Given the description of an element on the screen output the (x, y) to click on. 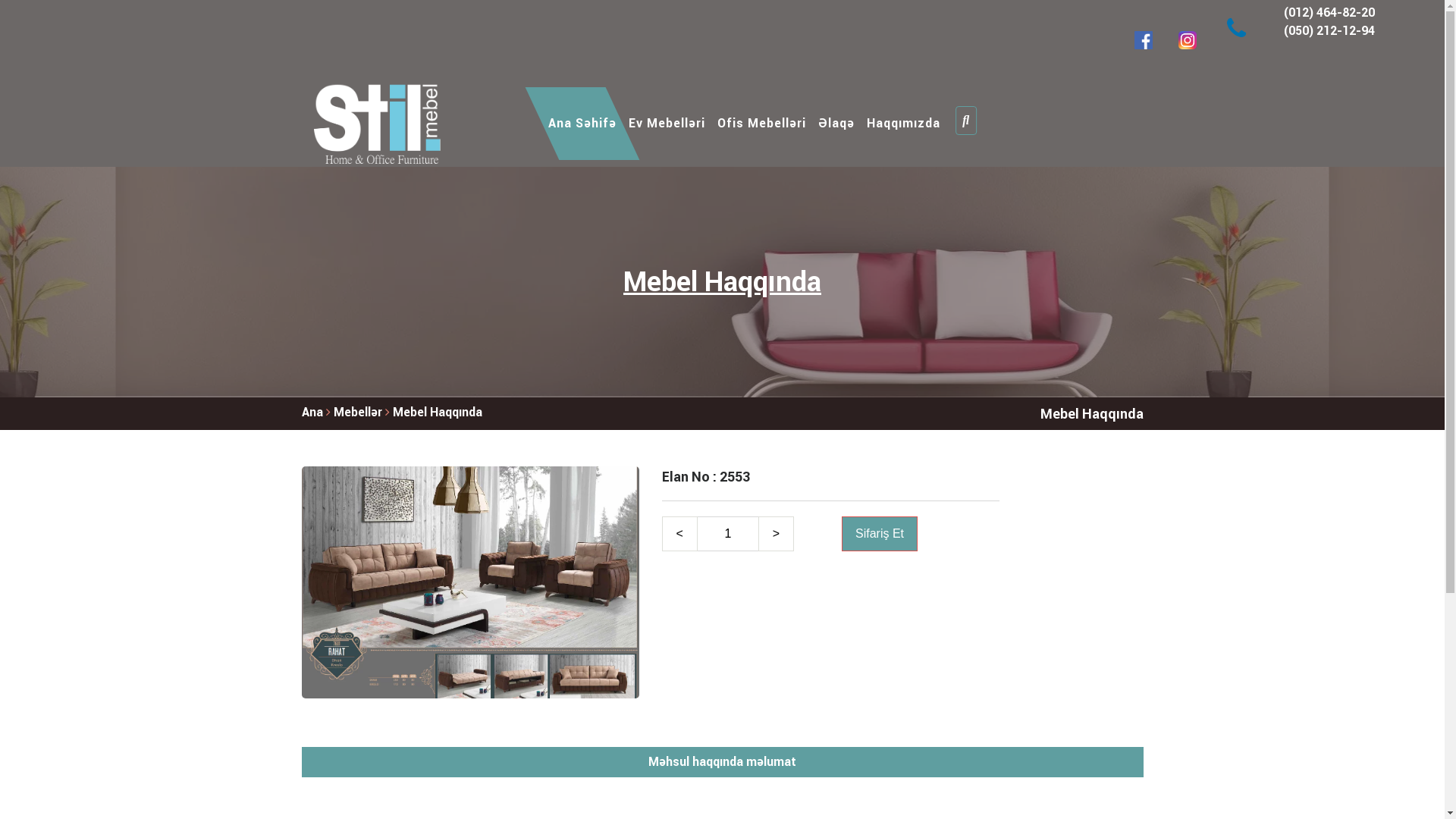
> Element type: text (775, 533)
< Element type: text (678, 533)
Ana Element type: text (312, 411)
